Given the description of an element on the screen output the (x, y) to click on. 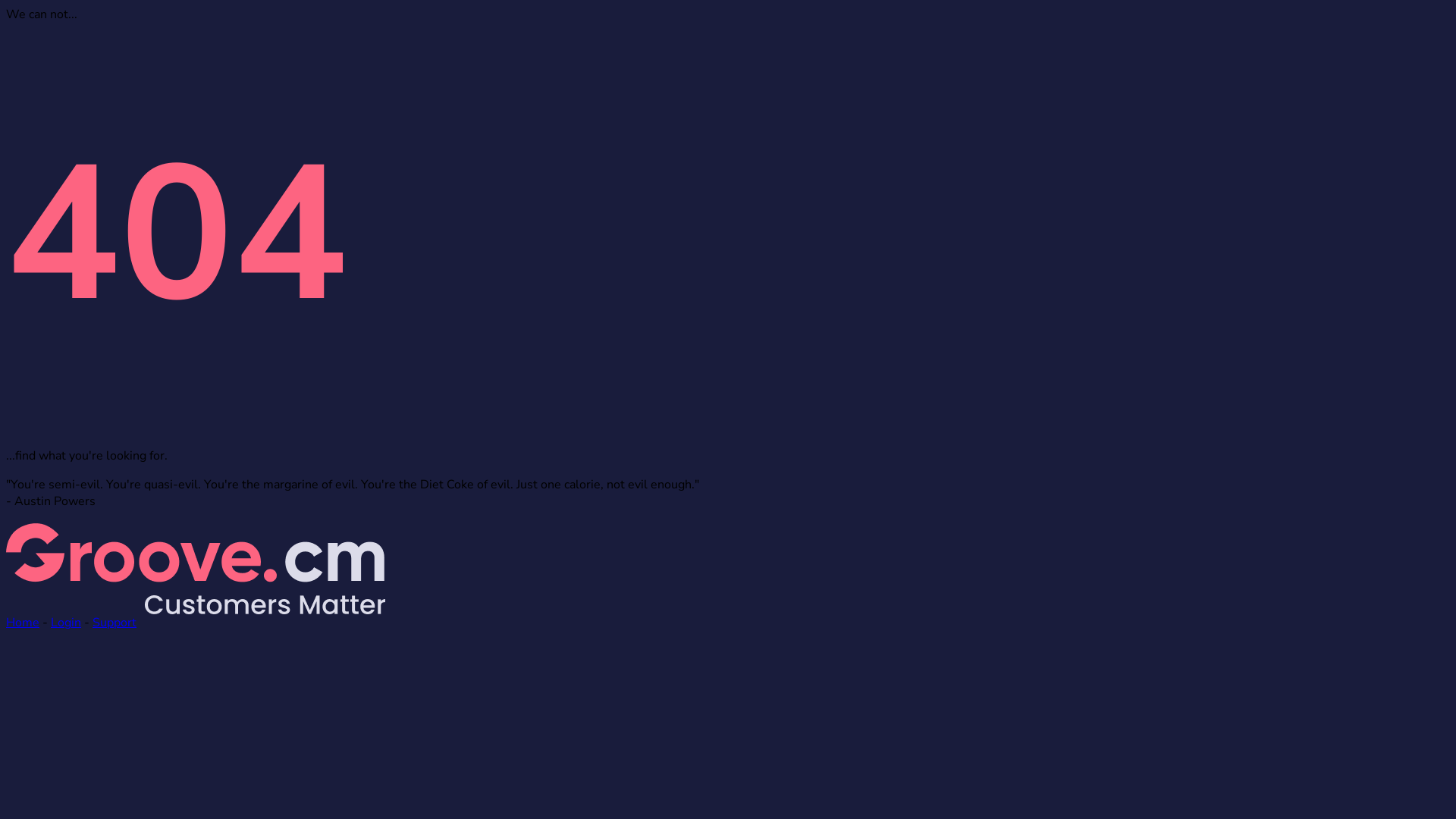
Support Element type: text (114, 622)
Login Element type: text (65, 622)
Home Element type: text (22, 622)
